Given the description of an element on the screen output the (x, y) to click on. 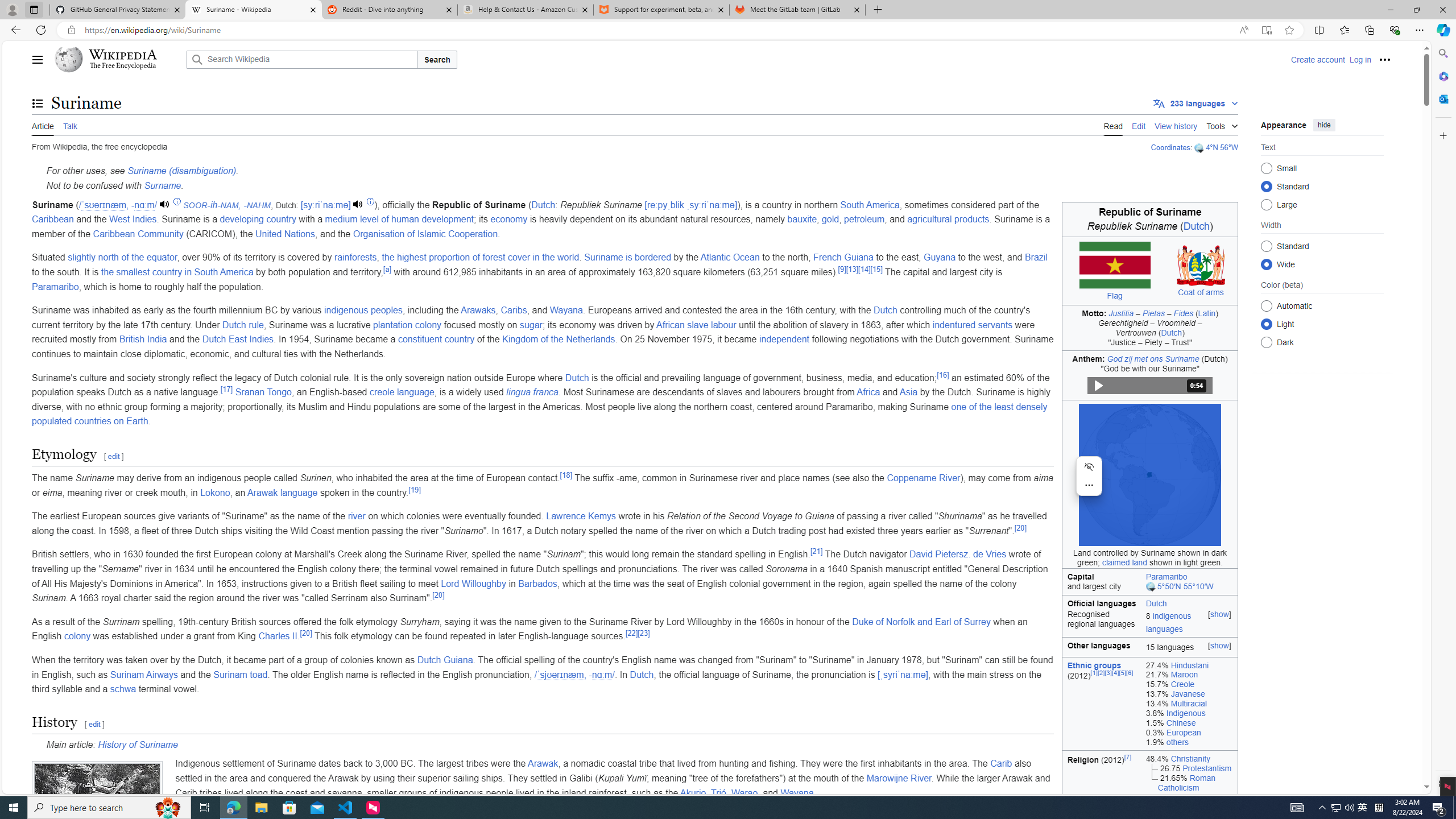
West Indies (133, 219)
Coppename River (923, 477)
lingua franca (532, 392)
The Free Encyclopedia (121, 65)
21.7% Maroon (1189, 674)
Mini menu on text selection (1088, 476)
Fides (1183, 312)
Standard (1266, 245)
Article (42, 124)
French Guiana (843, 257)
[18] (565, 474)
Paramaribo (55, 286)
[14] (863, 268)
Read (1112, 124)
